Given the description of an element on the screen output the (x, y) to click on. 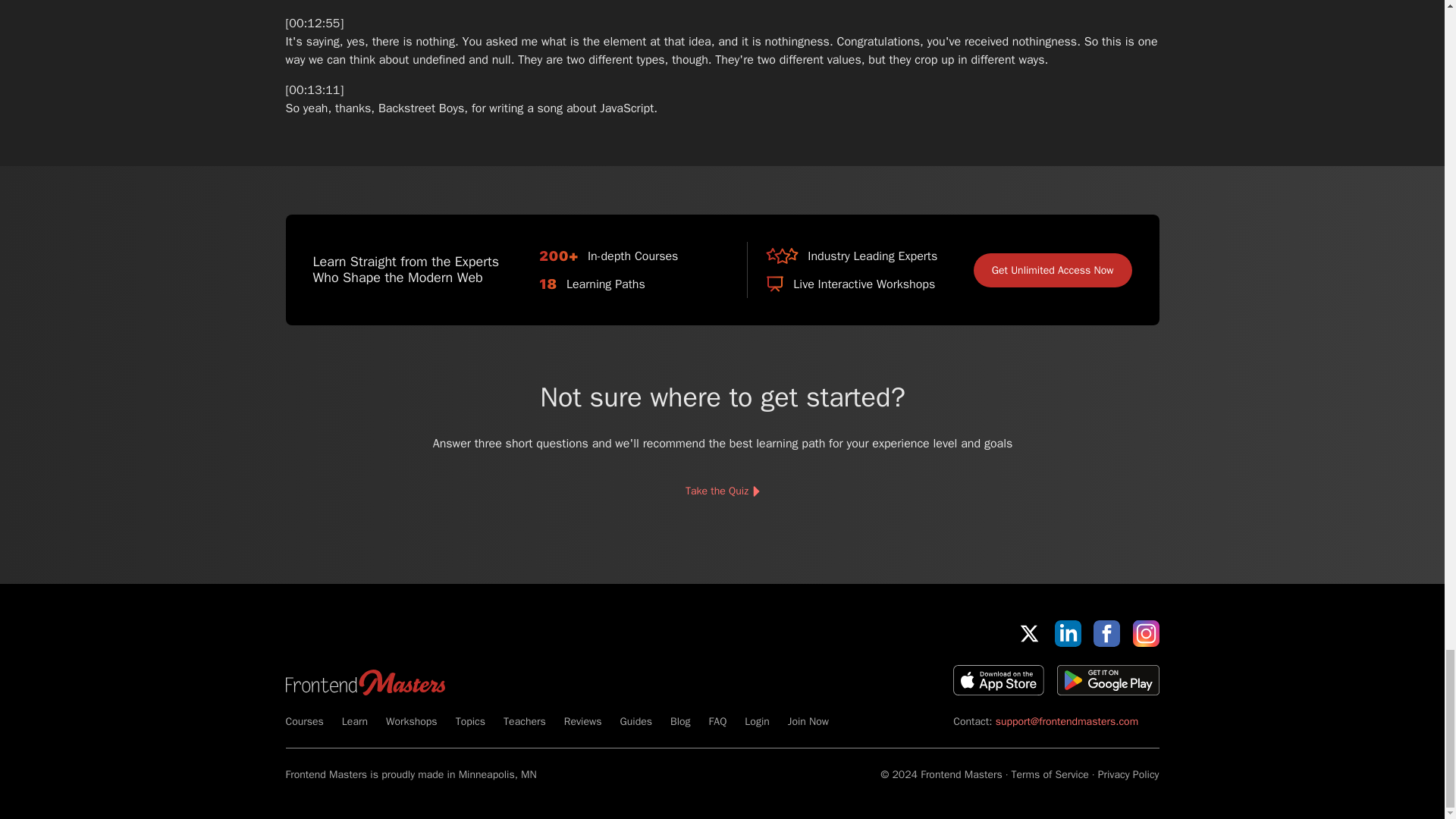
Take the Quiz (720, 490)
Workshops (411, 721)
Blog (679, 721)
LinkedIn (1067, 633)
Join Now (807, 721)
Login (756, 721)
Apple App Store (998, 680)
FrontendMasters (364, 682)
Learn (355, 721)
Google App Store (1107, 680)
